Given the description of an element on the screen output the (x, y) to click on. 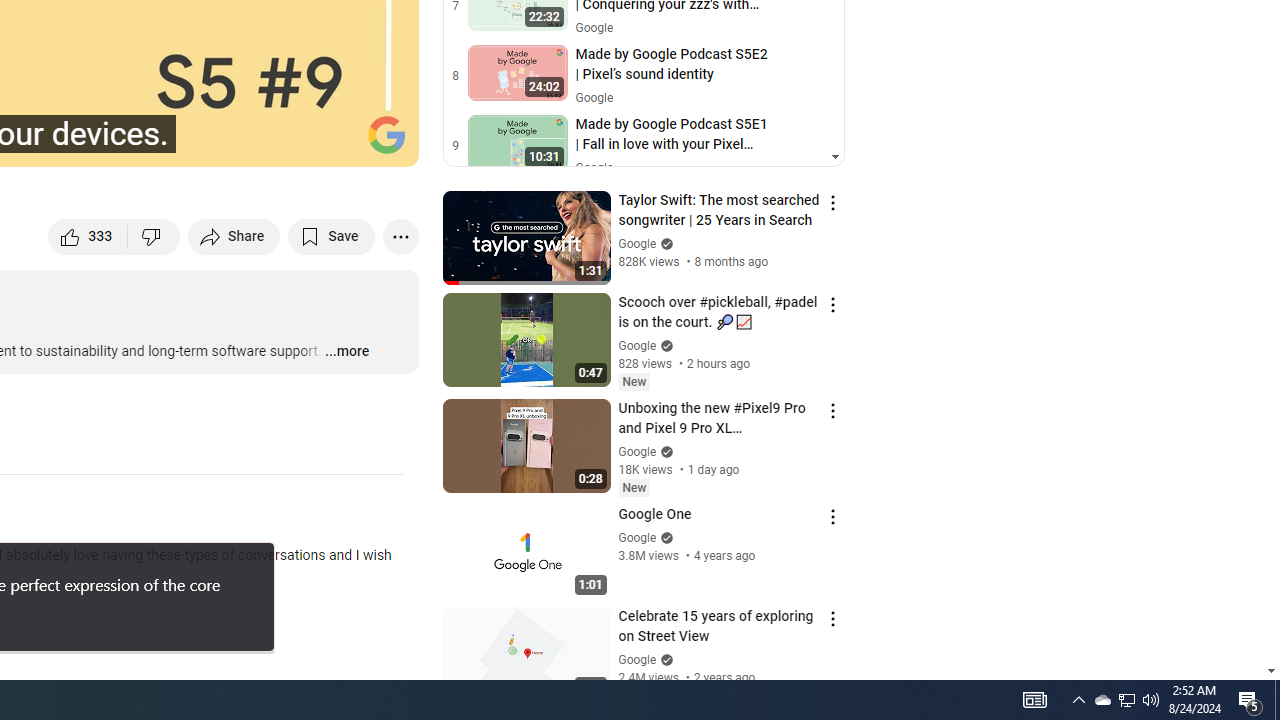
Miniplayer (i) (286, 142)
...more (345, 352)
Channel watermark (386, 134)
Subtitles/closed captions unavailable (190, 142)
Share (234, 236)
Dislike this video (154, 236)
like this video along with 333 other people (88, 236)
New (634, 487)
